Given the description of an element on the screen output the (x, y) to click on. 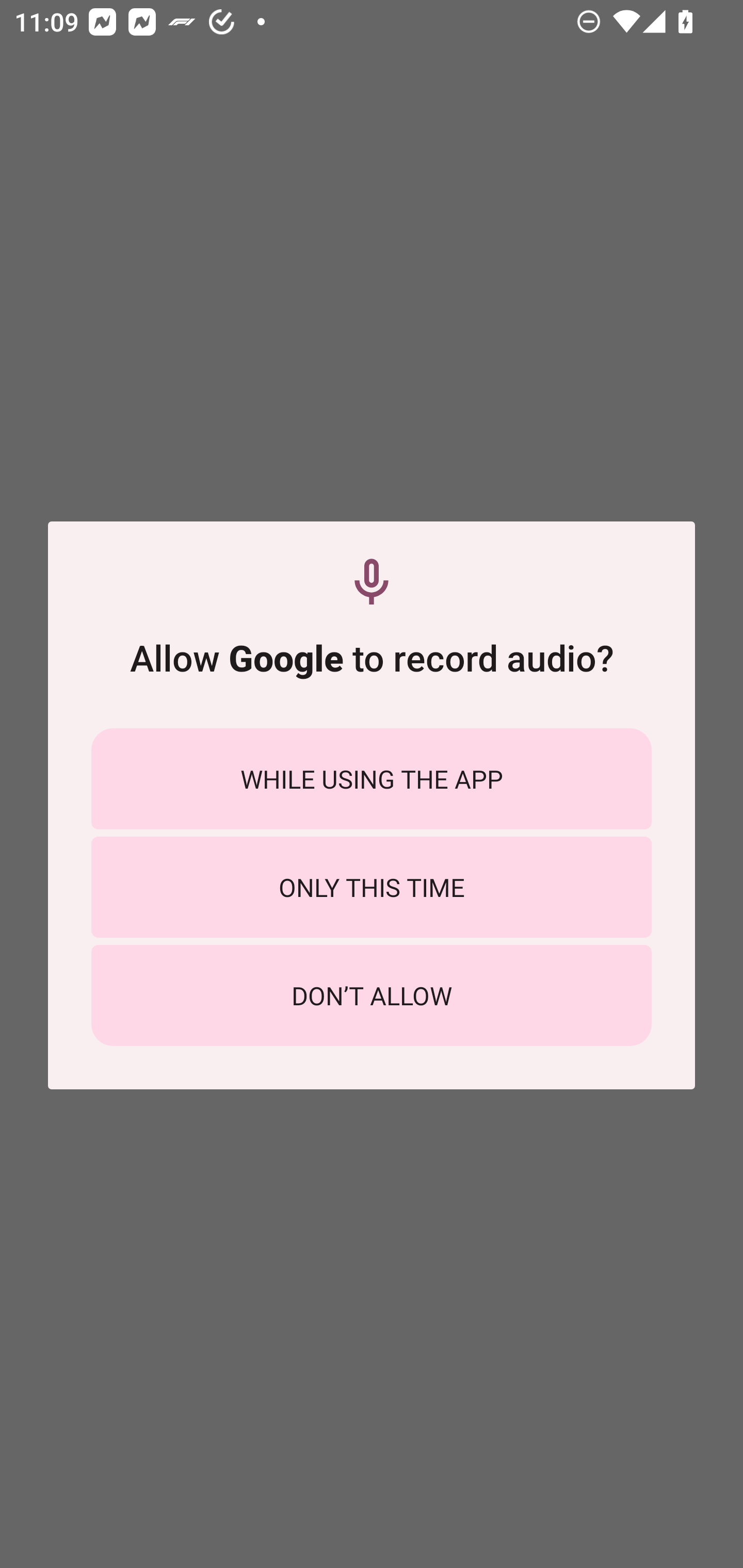
WHILE USING THE APP (371, 778)
ONLY THIS TIME (371, 887)
DON’T ALLOW (371, 995)
